Given the description of an element on the screen output the (x, y) to click on. 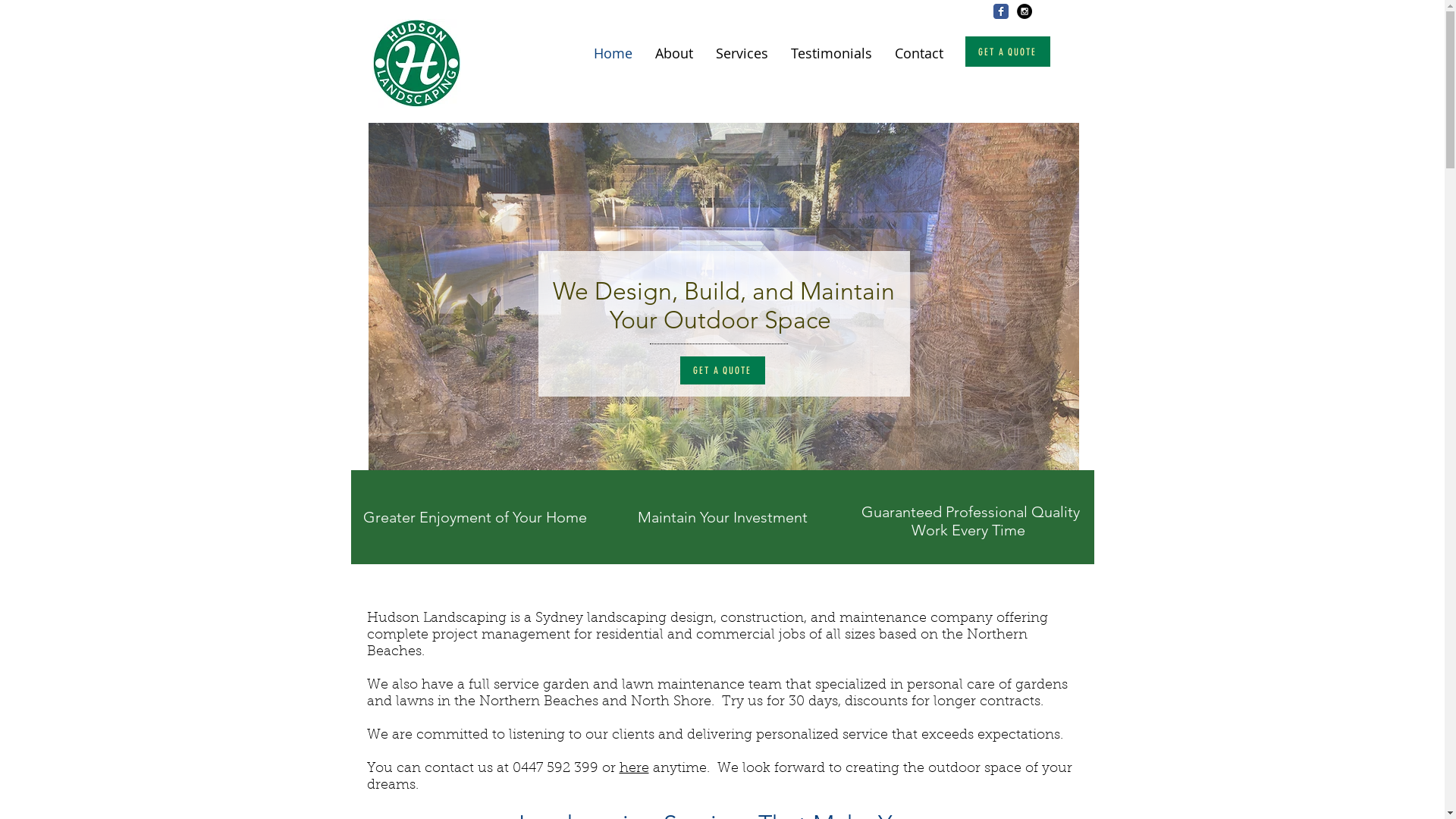
Home Element type: text (612, 51)
GET A QUOTE Element type: text (721, 370)
Services Element type: text (740, 51)
Contact Element type: text (917, 51)
GET A QUOTE Element type: text (1006, 51)
here Element type: text (633, 768)
Testimonials Element type: text (831, 51)
